Given the description of an element on the screen output the (x, y) to click on. 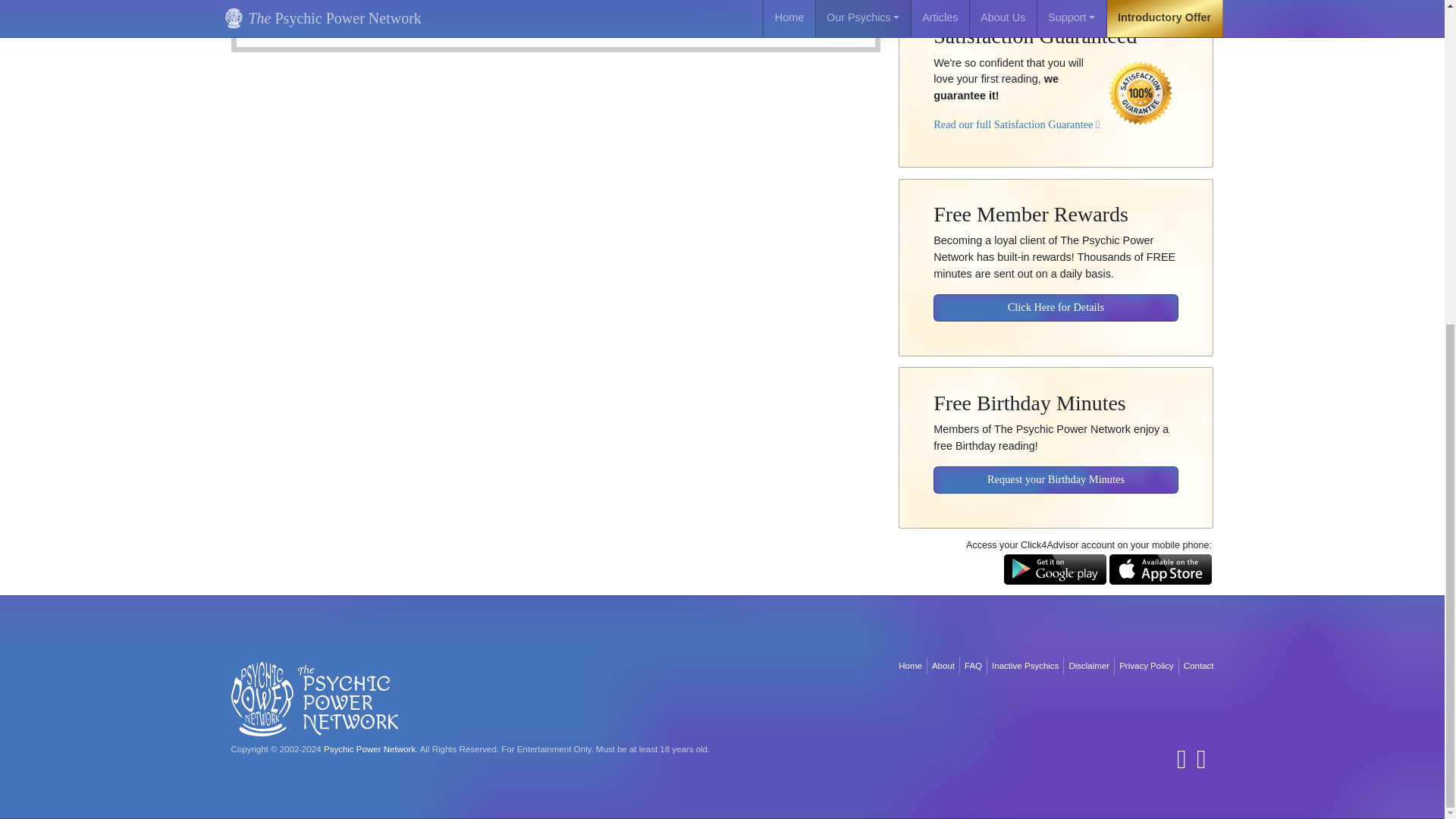
Click Here for Details (1055, 297)
Read our full Satisfaction Guarantee  (1016, 113)
Request your Birthday Minutes (1055, 469)
Home (909, 665)
